Given the description of an element on the screen output the (x, y) to click on. 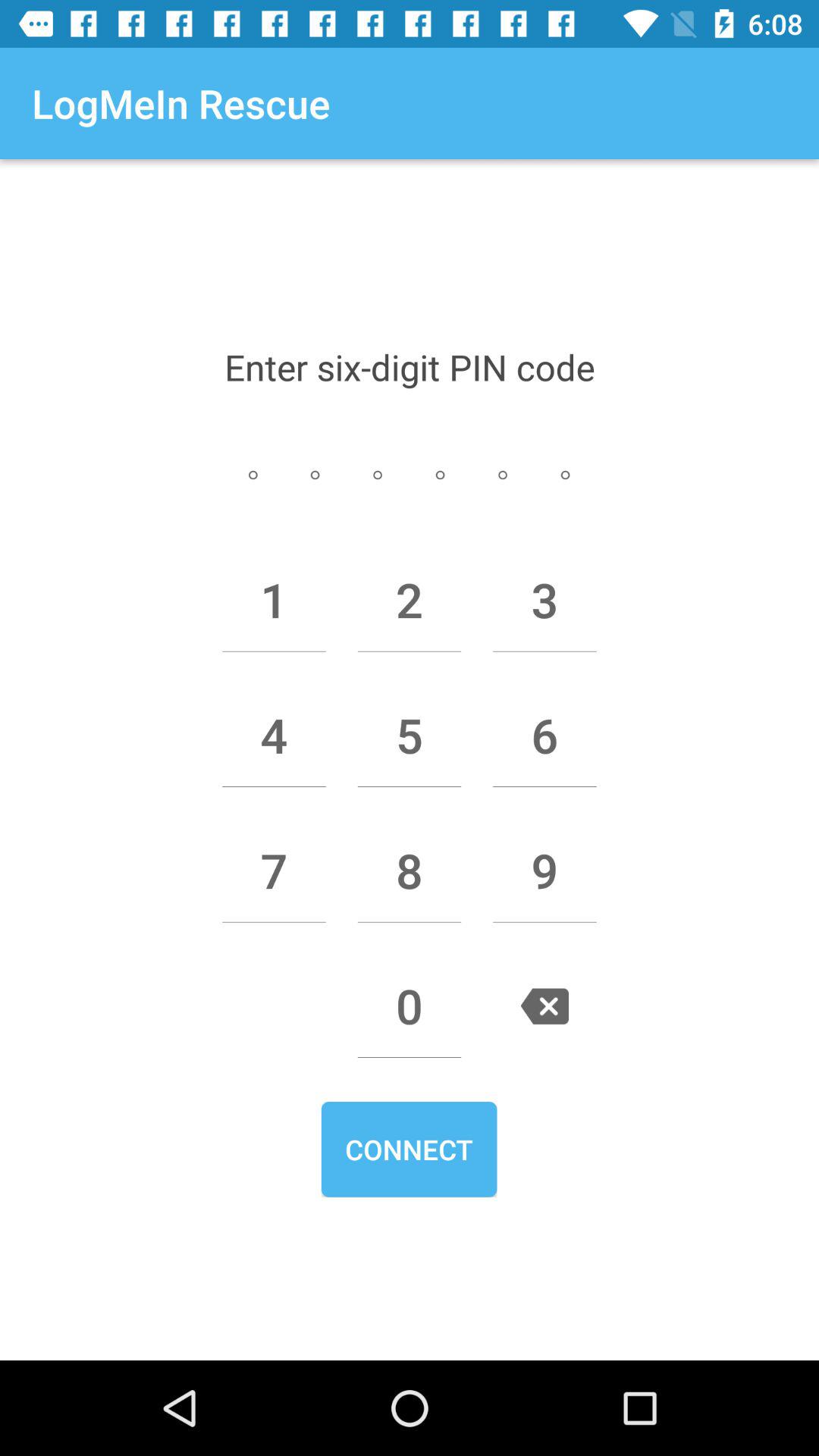
tap icon to the left of the 2 item (273, 599)
